Given the description of an element on the screen output the (x, y) to click on. 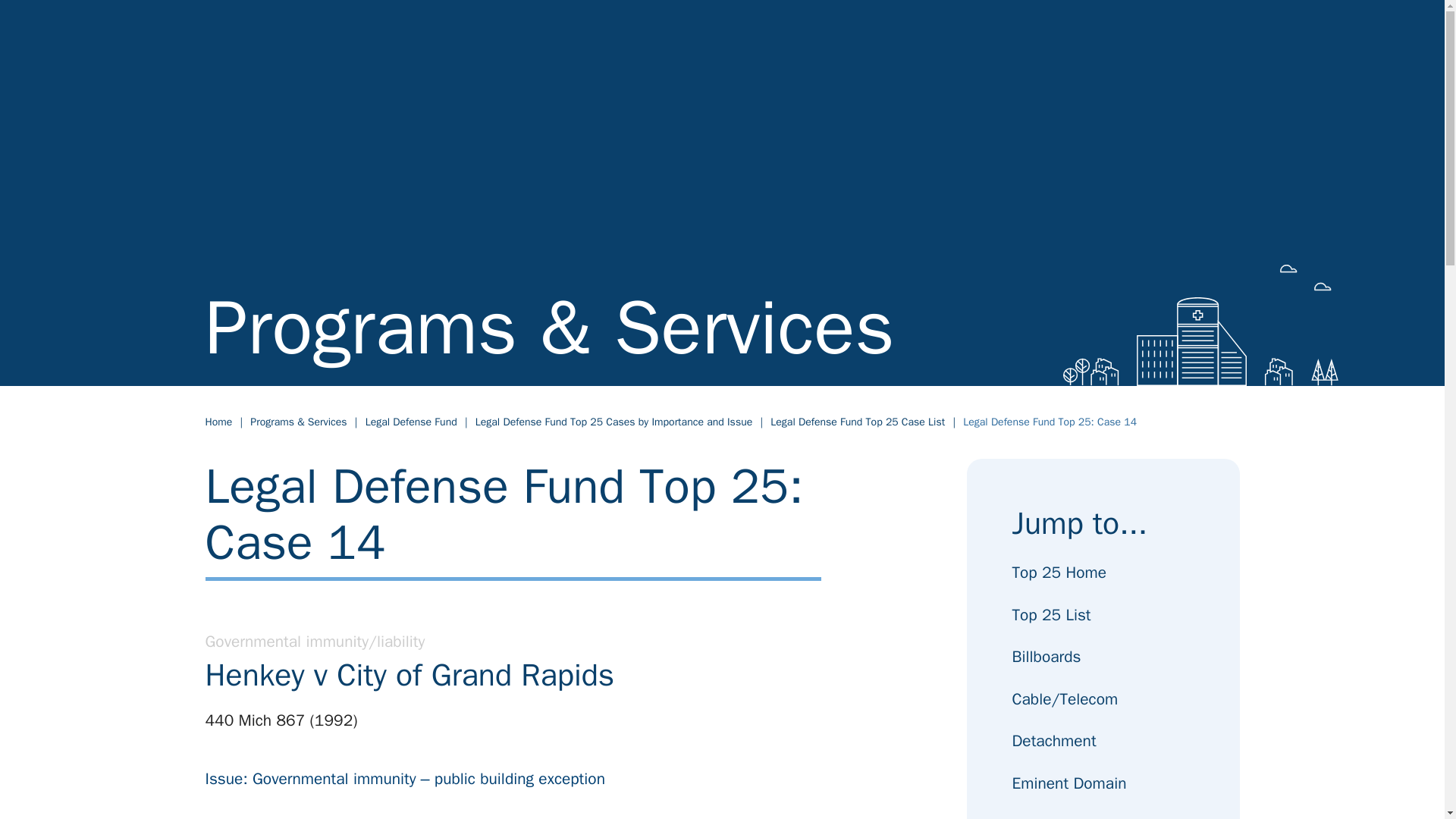
Legal Defense Fund Top 25 Cases by Importance and Issue (614, 421)
Detachment (1053, 740)
Billboards (1045, 657)
Top 25 Home (1058, 572)
Top 25 List (1050, 615)
Legal Defense Fund (411, 421)
Eminent Domain (1068, 783)
Legal Defense Fund Top 25 Case List (857, 421)
Home (218, 421)
